Given the description of an element on the screen output the (x, y) to click on. 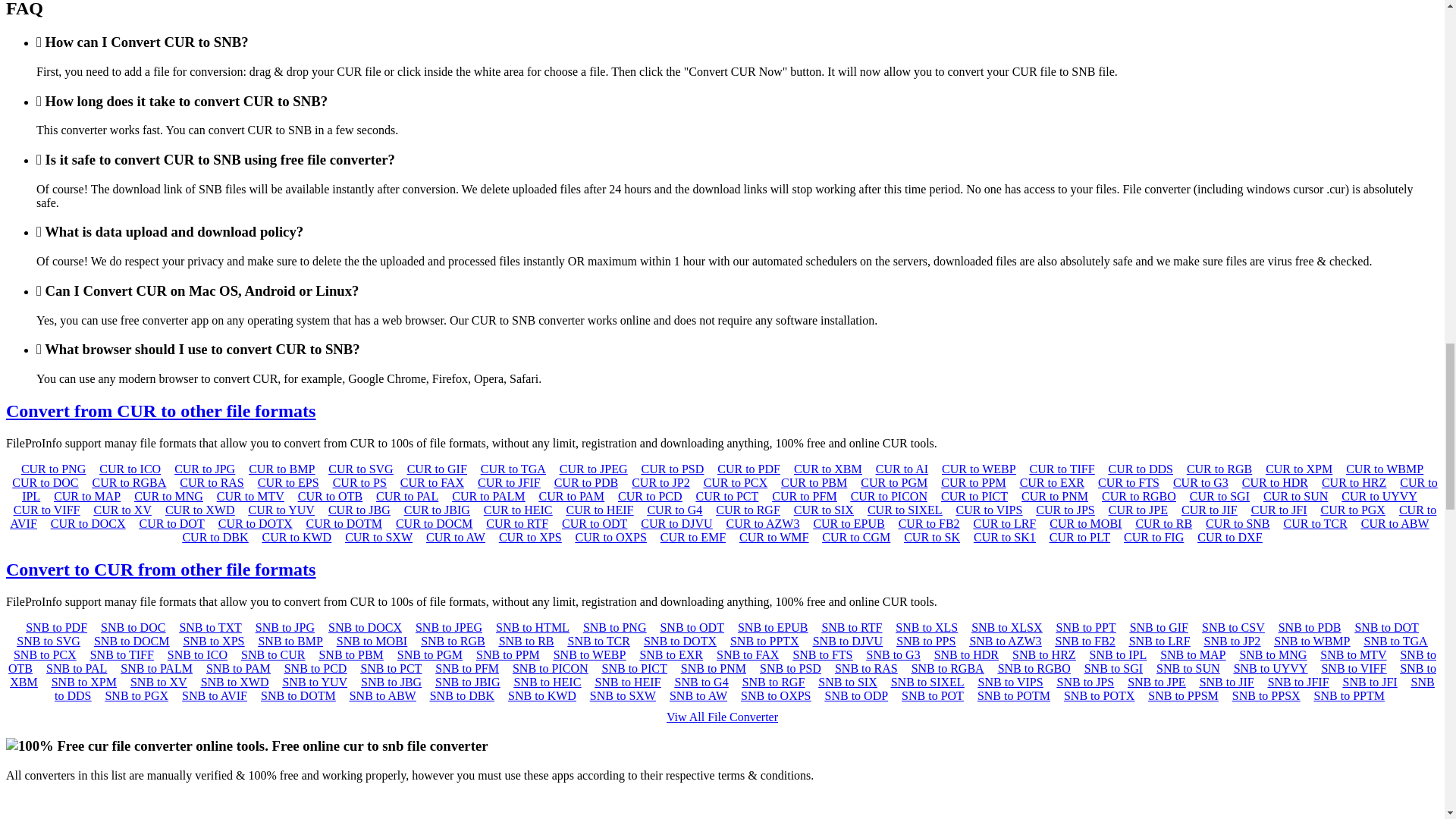
CUR to BMP (281, 468)
CUR to PNG (53, 468)
CUR to JPG (204, 468)
CUR to ICO (129, 468)
CUR to GIF (437, 468)
CUR to SVG (361, 468)
Convert from CUR to other file formats (160, 410)
